Given the description of an element on the screen output the (x, y) to click on. 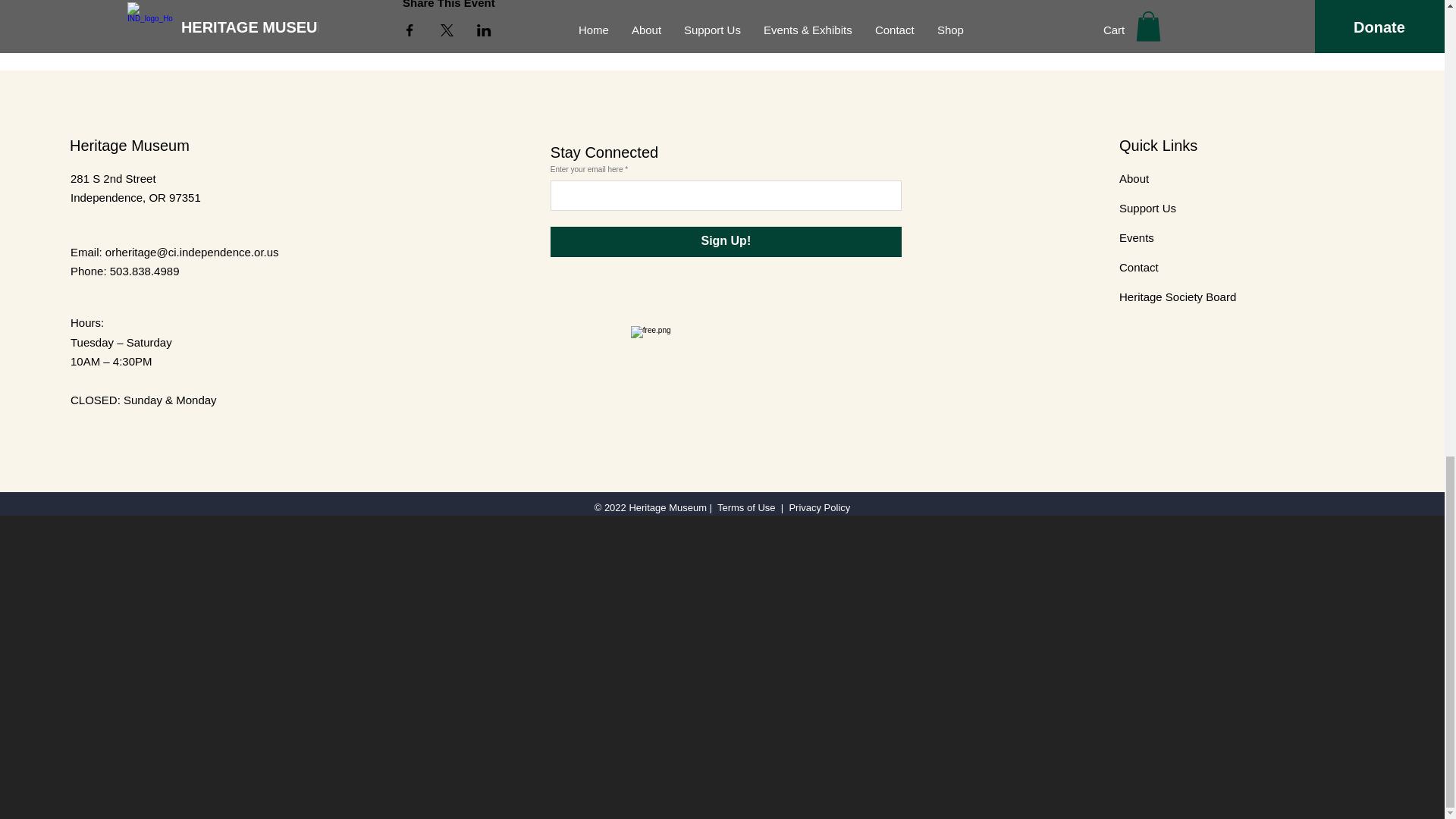
Privacy Policy (819, 507)
Contact (1138, 267)
Sign Up! (725, 241)
Support Us (1147, 207)
Events (1136, 236)
Terms of Use (746, 507)
Heritage Society Board (1177, 295)
About (1133, 177)
